Given the description of an element on the screen output the (x, y) to click on. 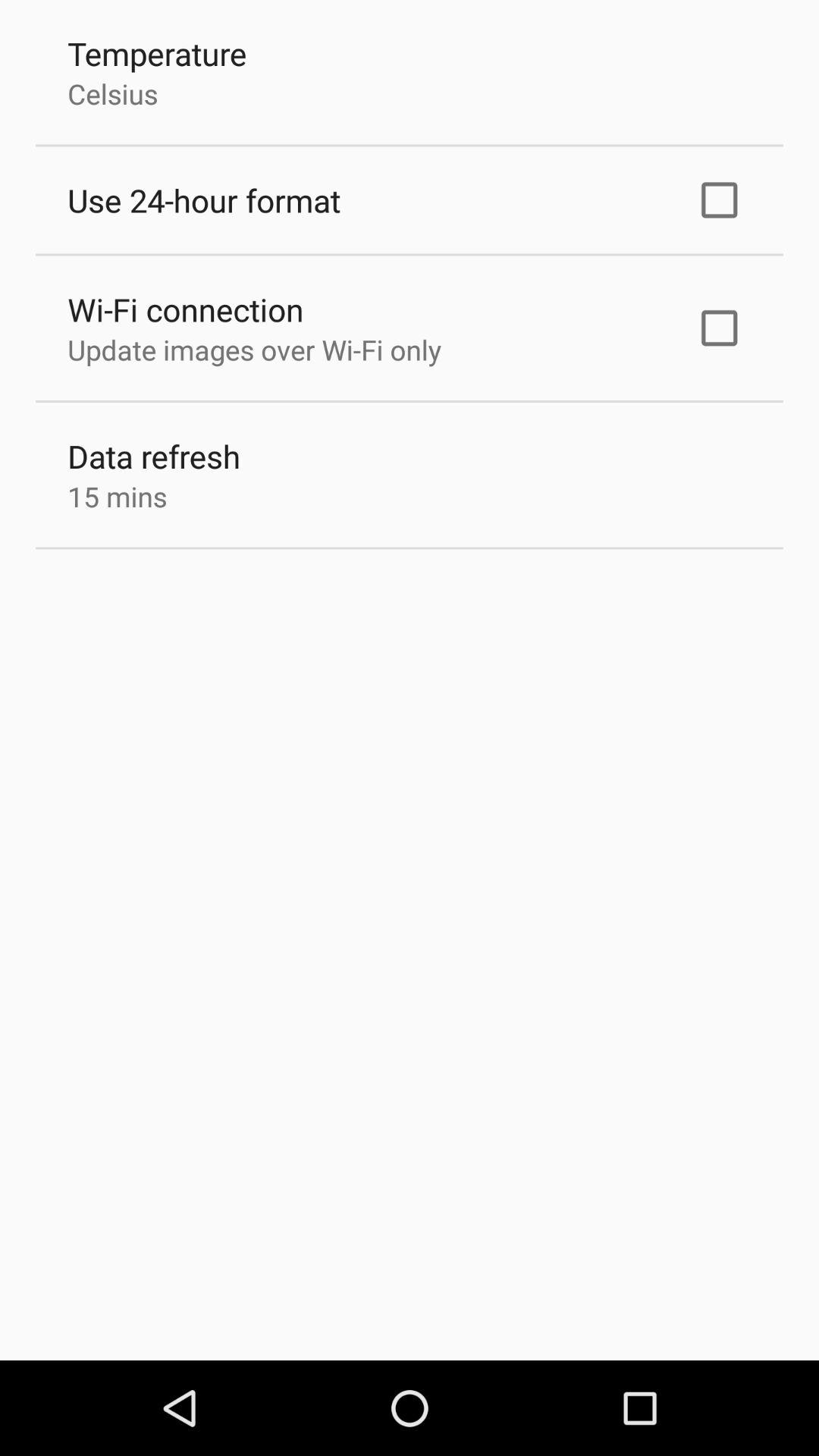
select the item below the data refresh icon (117, 496)
